Given the description of an element on the screen output the (x, y) to click on. 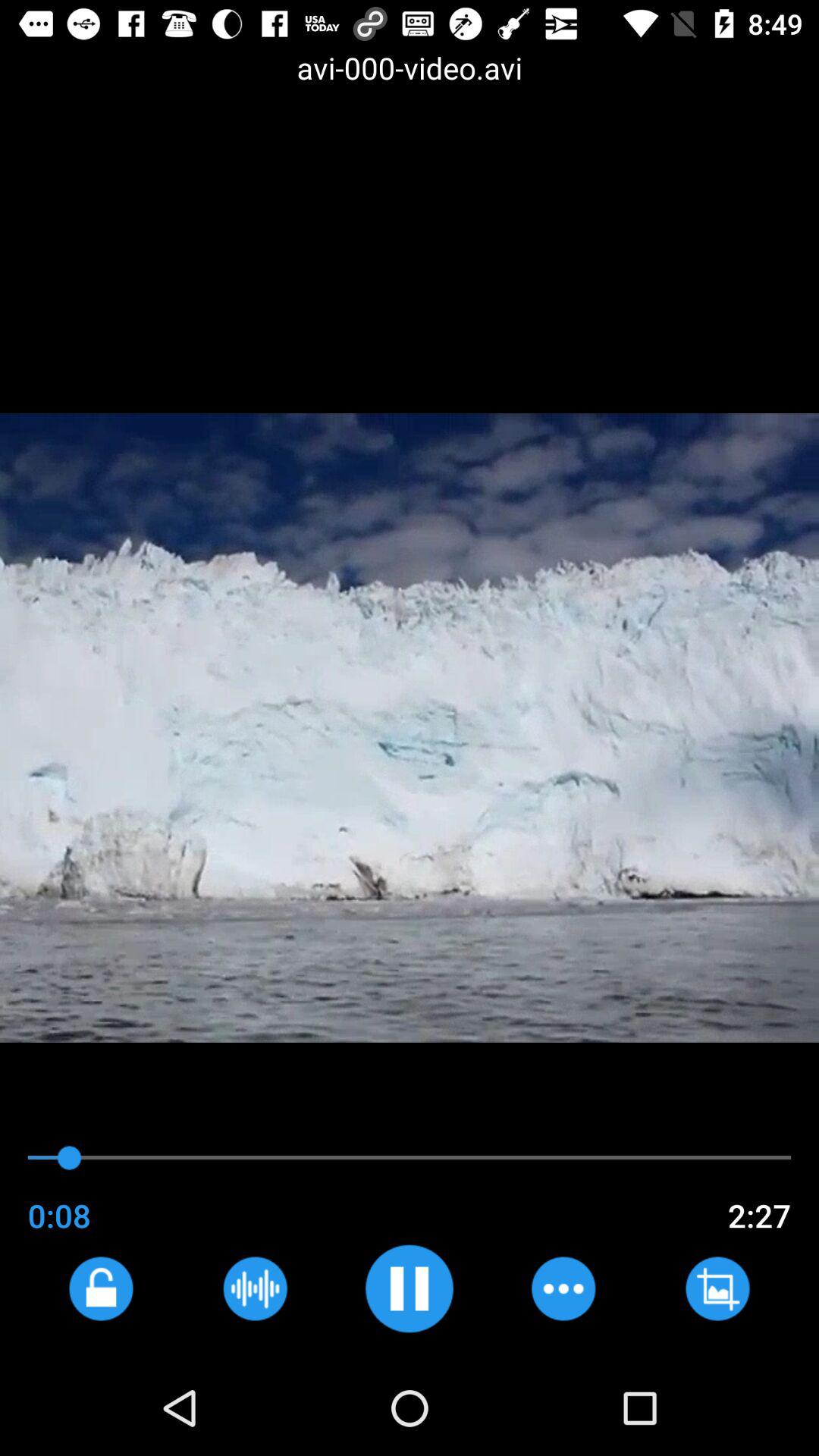
record page (255, 1288)
